Given the description of an element on the screen output the (x, y) to click on. 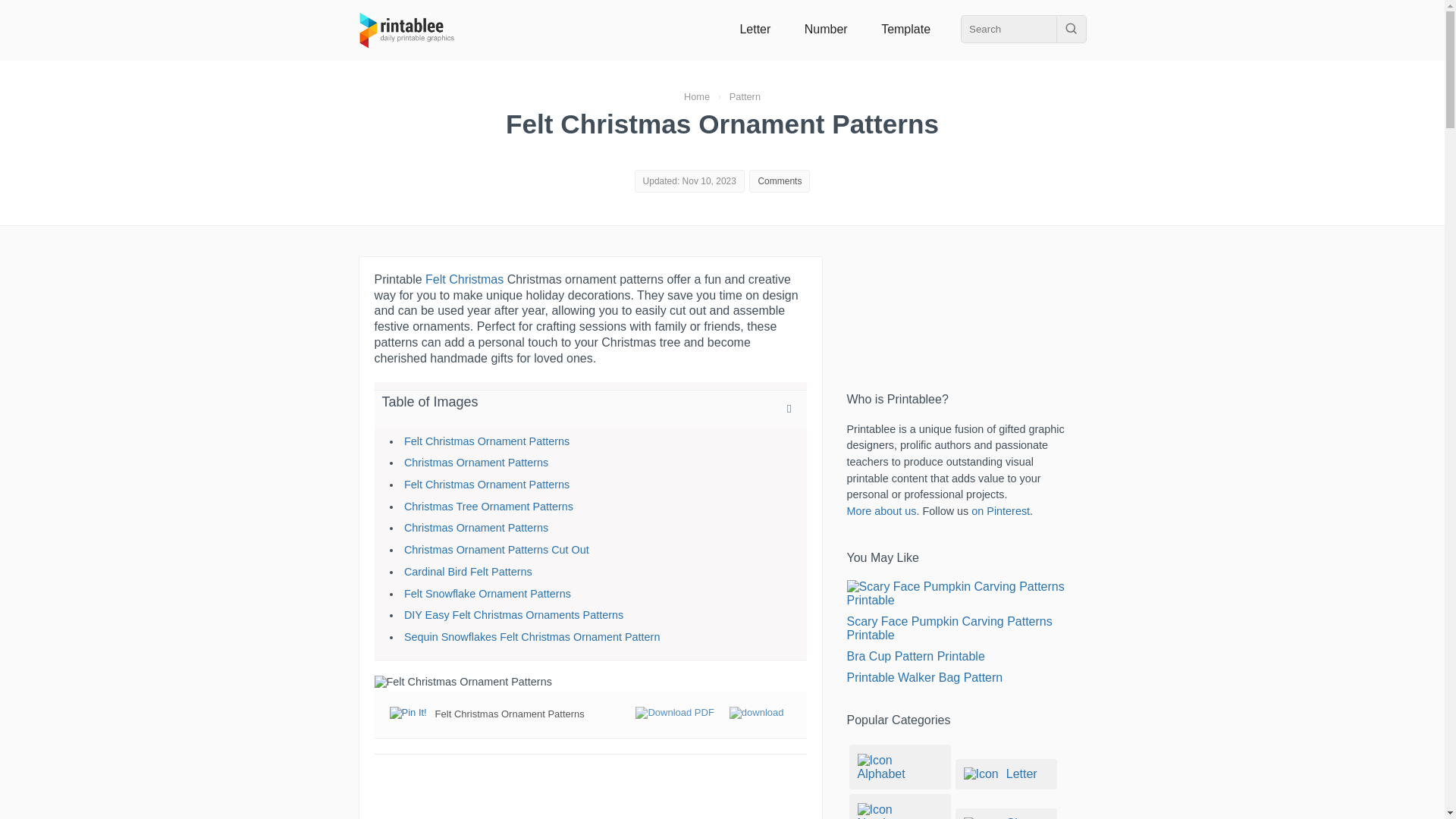
Felt Christmas Ornament Patterns (486, 440)
Home (697, 96)
Cardinal Bird Felt Patterns (468, 571)
Pattern (744, 96)
Printable Number Category (826, 29)
Letter (754, 29)
Download Image: Felt Christmas Ornament Patterns (756, 714)
Number (826, 29)
Felt Christmas Ornament Patterns (486, 484)
Christmas Ornament Patterns (476, 527)
Christmas Ornament Patterns Cut Out (496, 549)
Printable Template Category (905, 29)
Christmas Tree Ornament Patterns (488, 506)
Template (905, 29)
Comments (779, 181)
